Given the description of an element on the screen output the (x, y) to click on. 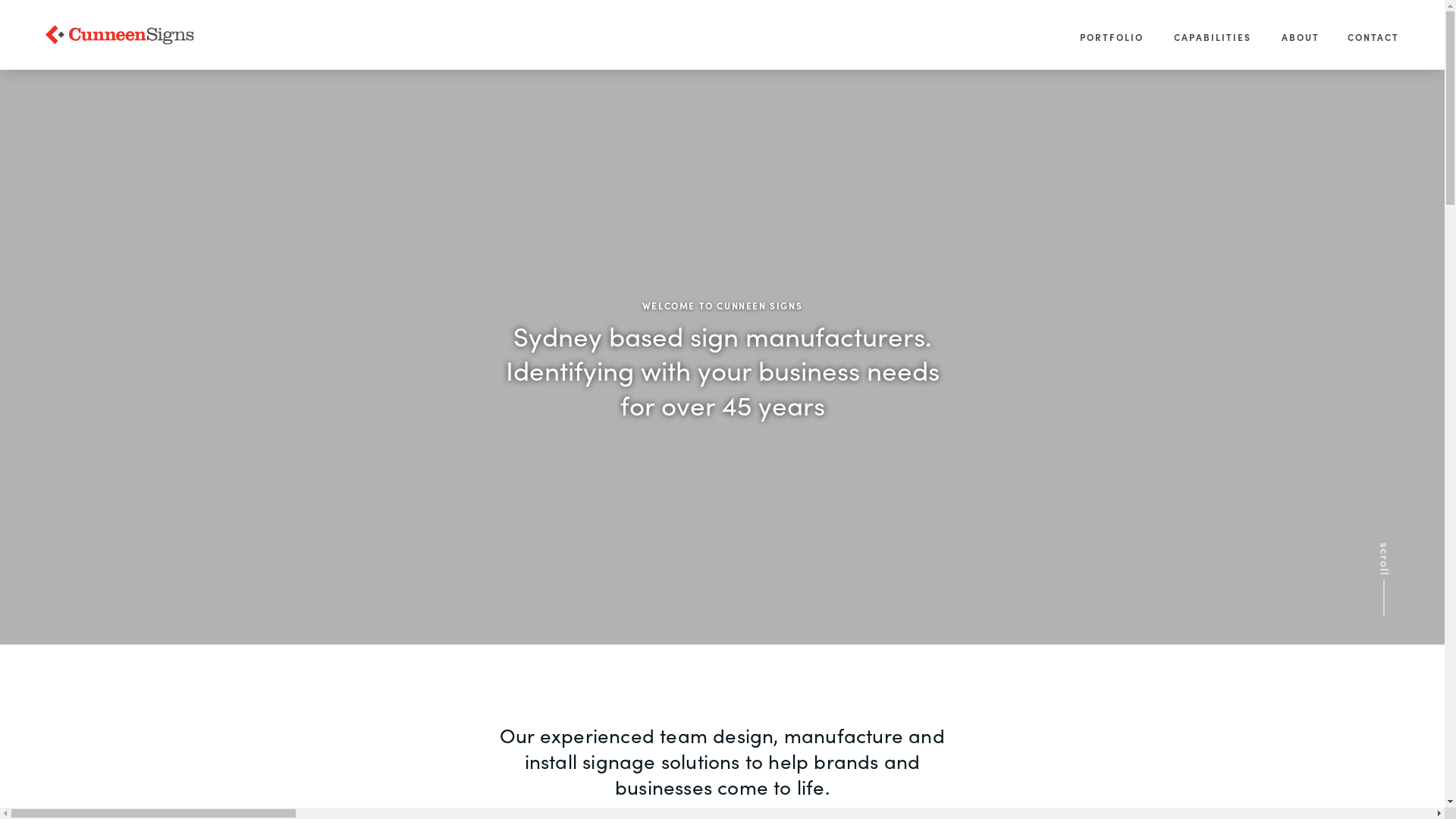
PORTFOLIO Element type: text (1111, 50)
scroll Element type: text (1415, 549)
ABOUT Element type: text (1300, 50)
CAPABILITIES Element type: text (1212, 50)
CONTACT Element type: text (1373, 50)
